Given the description of an element on the screen output the (x, y) to click on. 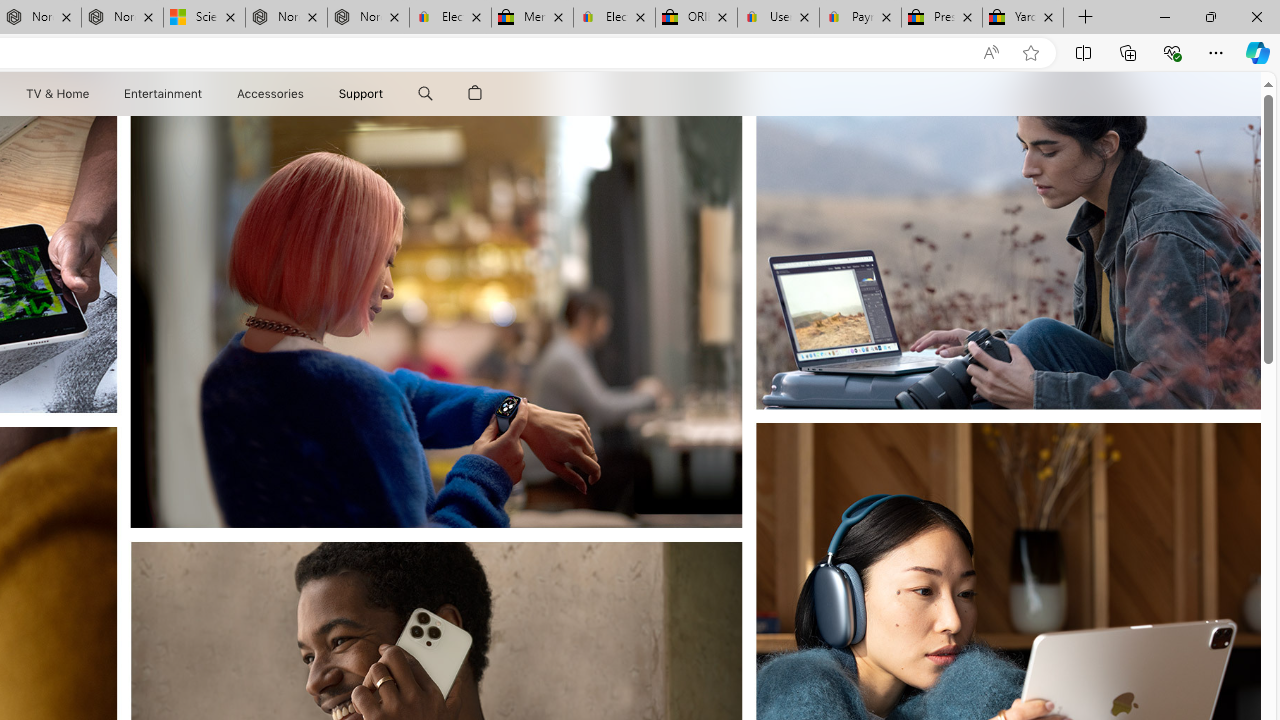
Support (361, 93)
Class: globalnav-item globalnav-search shift-0-1 (425, 93)
Accessories (269, 93)
Nordace - FAQ (368, 17)
